Given the description of an element on the screen output the (x, y) to click on. 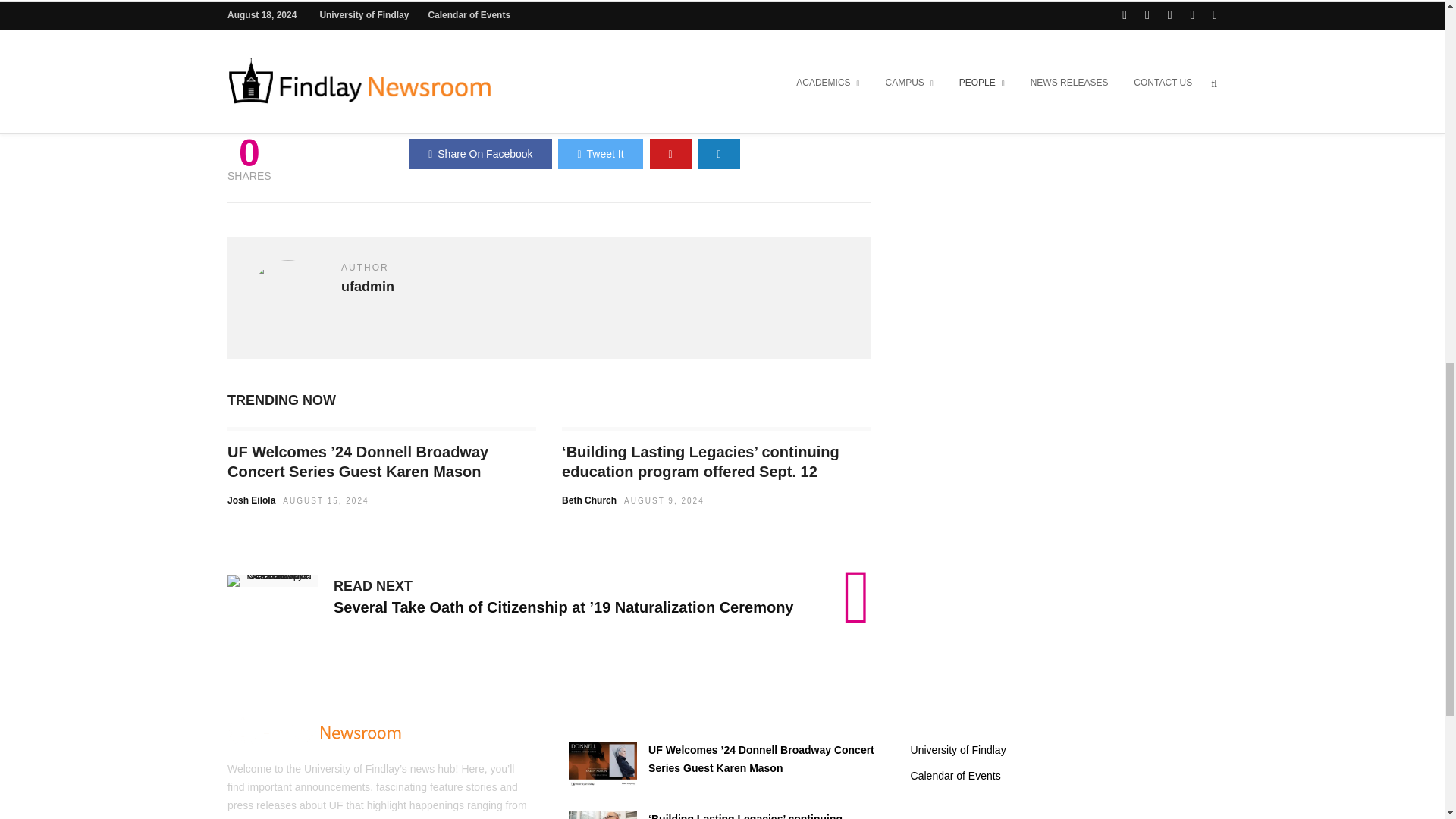
Share On Twitter (599, 153)
Share On Pinterest (670, 153)
Share On Facebook (480, 153)
Share by Email (718, 153)
